Given the description of an element on the screen output the (x, y) to click on. 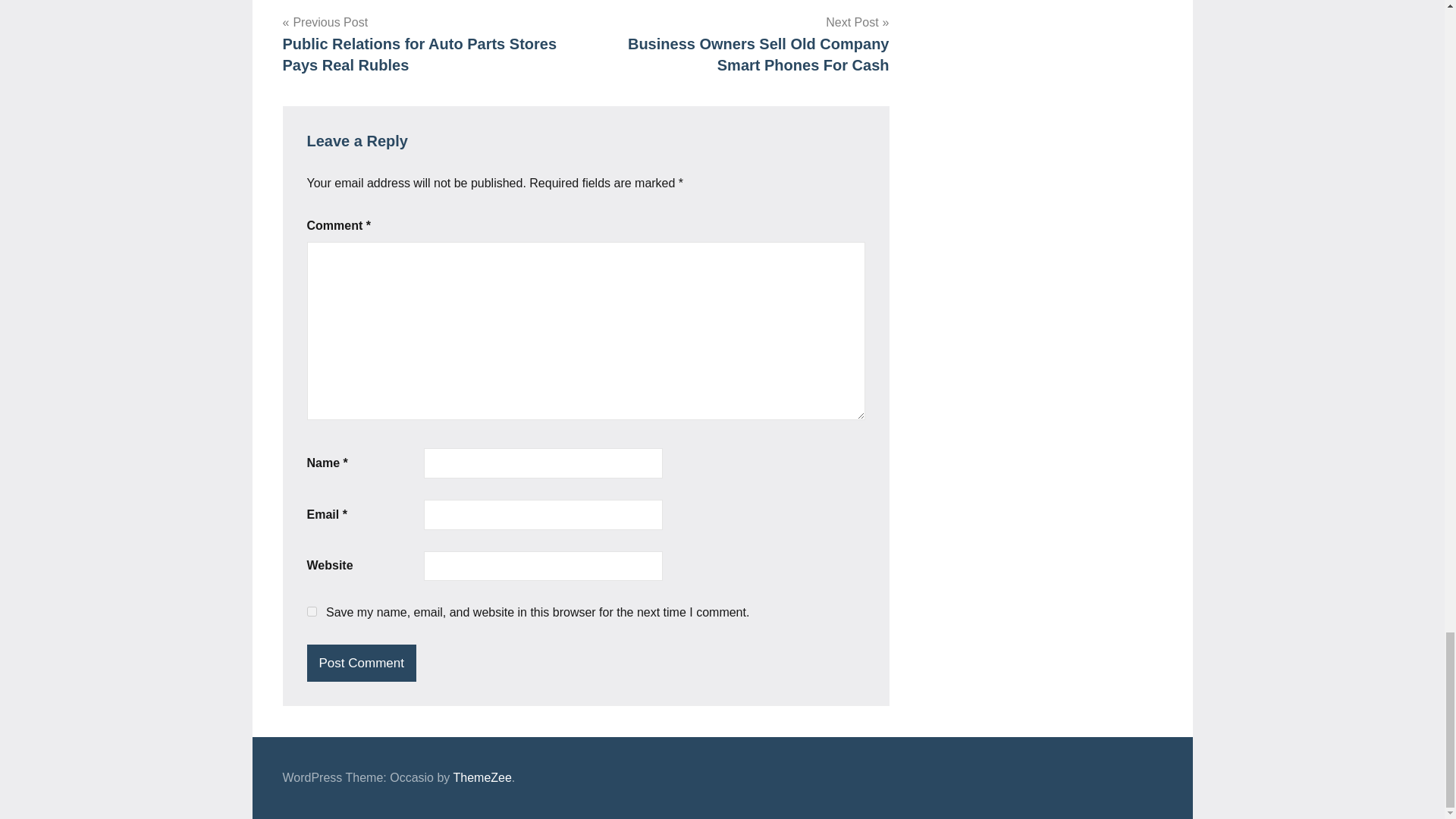
Post Comment (359, 662)
Post Comment (359, 662)
yes (310, 611)
